Given the description of an element on the screen output the (x, y) to click on. 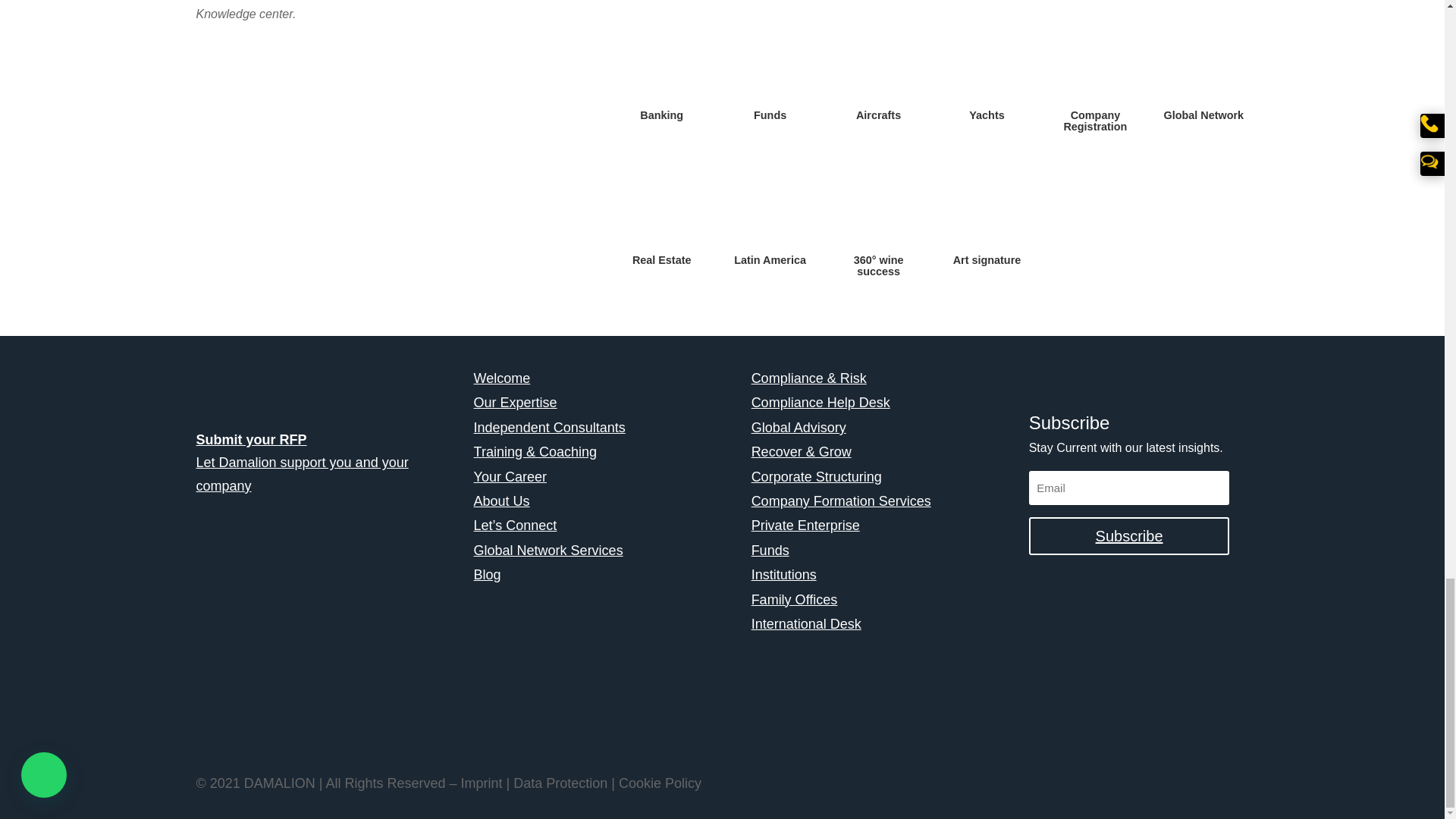
open-bank-account-offshore (661, 64)
COMPANY-FORMATION-REGISTRATION (1094, 64)
GLOBAL-NETWORK-SERVICES (1202, 64)
international-real-estate-sale-and-investment-services (661, 209)
YACHT-REGISTRATION-FINANCE (986, 64)
LUXEMBOURG-INVESTMENT-FUND (770, 64)
Damalion Qr Code (304, 650)
latin america business and investment services (770, 209)
AIRCRAFT-REGISTRATION-FINANCE (878, 64)
